Given the description of an element on the screen output the (x, y) to click on. 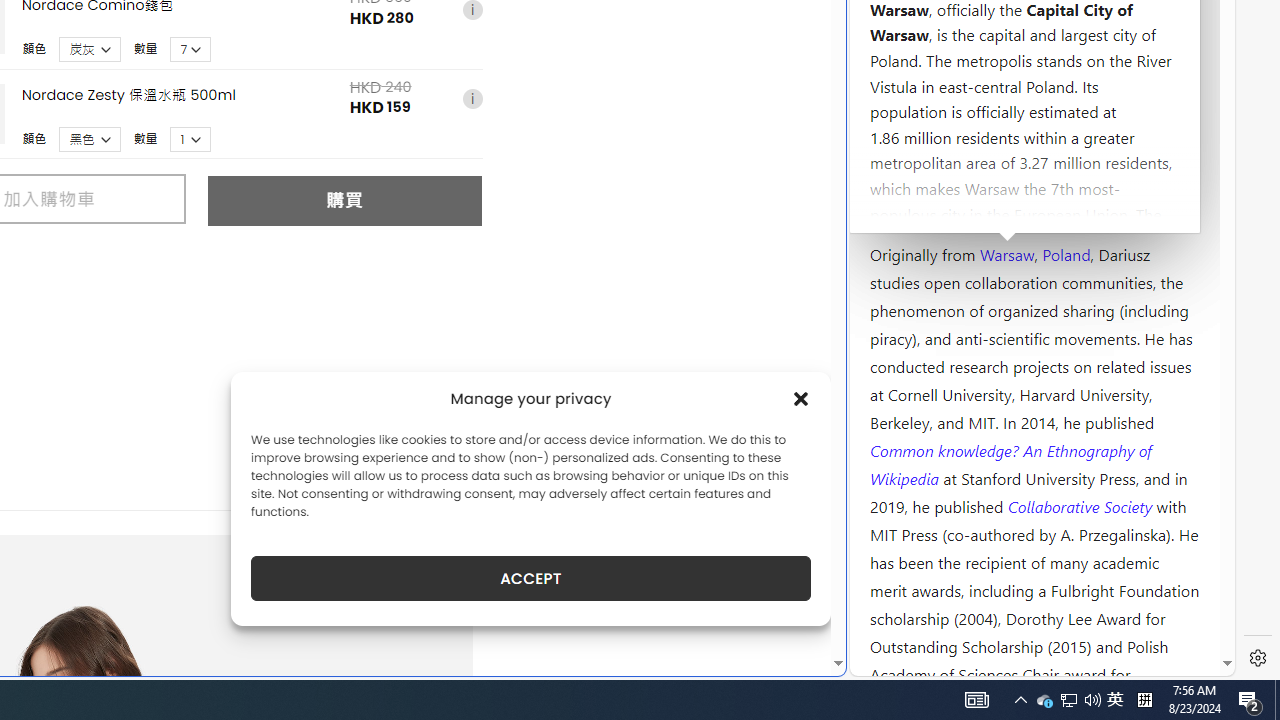
Harvard University (934, 205)
Class: upsell-v2-product-upsell-variable-product-qty-select (191, 139)
Common knowledge? An Ethnography of Wikipedia (1010, 463)
i (472, 99)
